Given the description of an element on the screen output the (x, y) to click on. 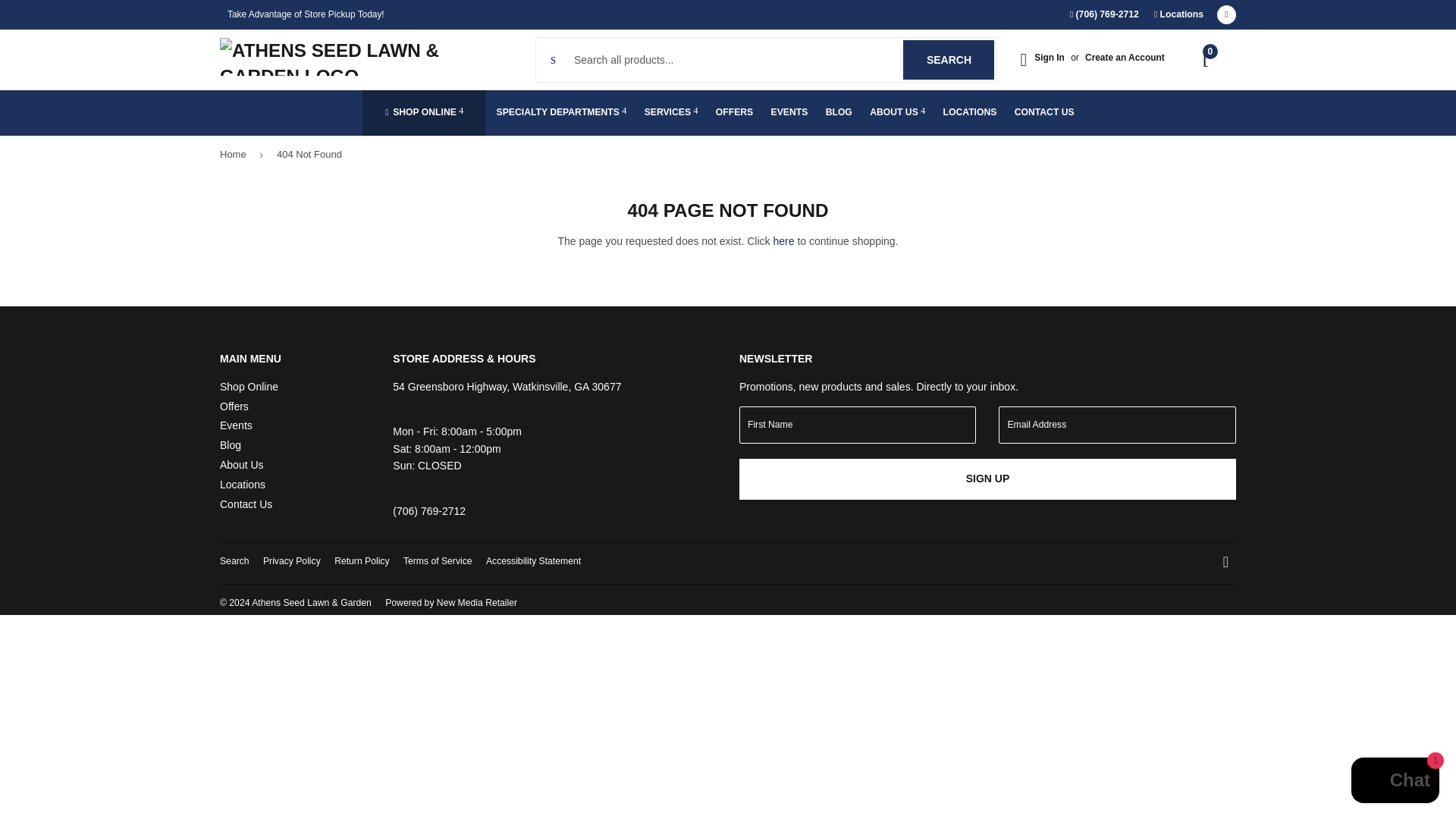
Facebook (1226, 14)
New Media Retailer (450, 602)
0 (1208, 59)
Create an Account (1124, 57)
 Locations (948, 59)
Sign In (1179, 14)
